Given the description of an element on the screen output the (x, y) to click on. 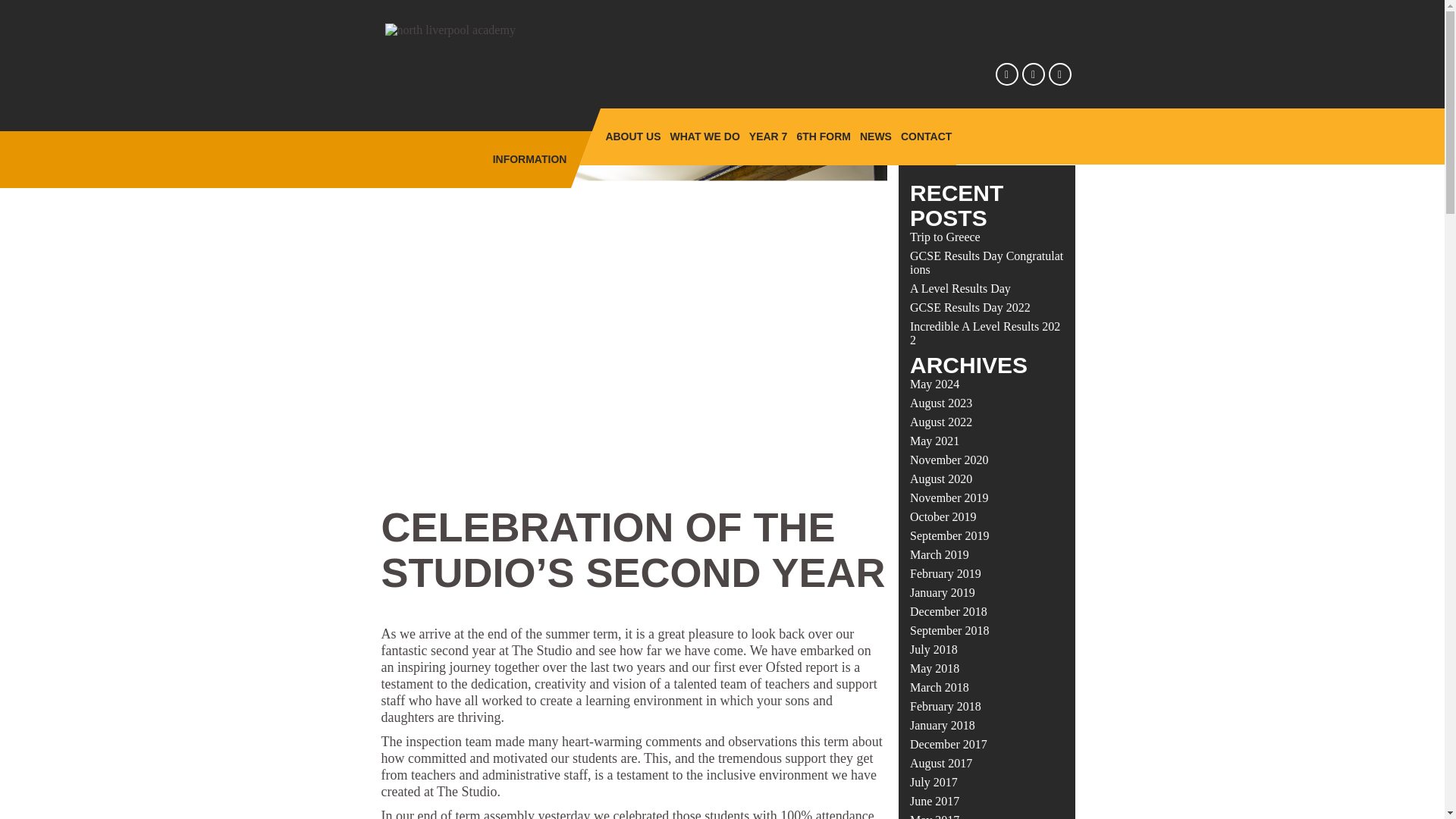
INFORMATION (529, 159)
ABOUT US (632, 136)
WHAT WE DO (704, 136)
